Given the description of an element on the screen output the (x, y) to click on. 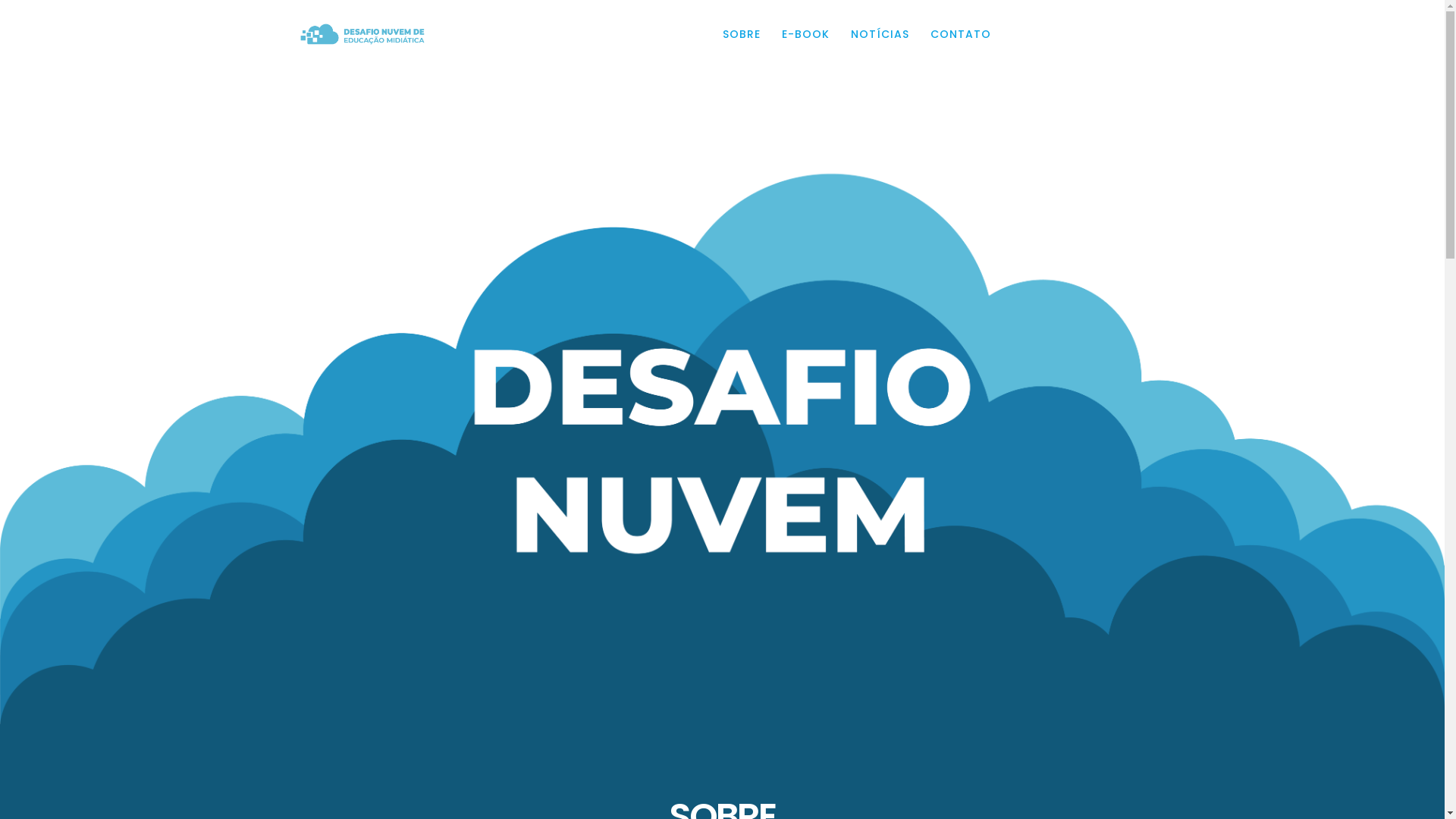
SOBRE Element type: text (740, 34)
E-BOOK Element type: text (804, 34)
CONTATO Element type: text (960, 34)
